Given the description of an element on the screen output the (x, y) to click on. 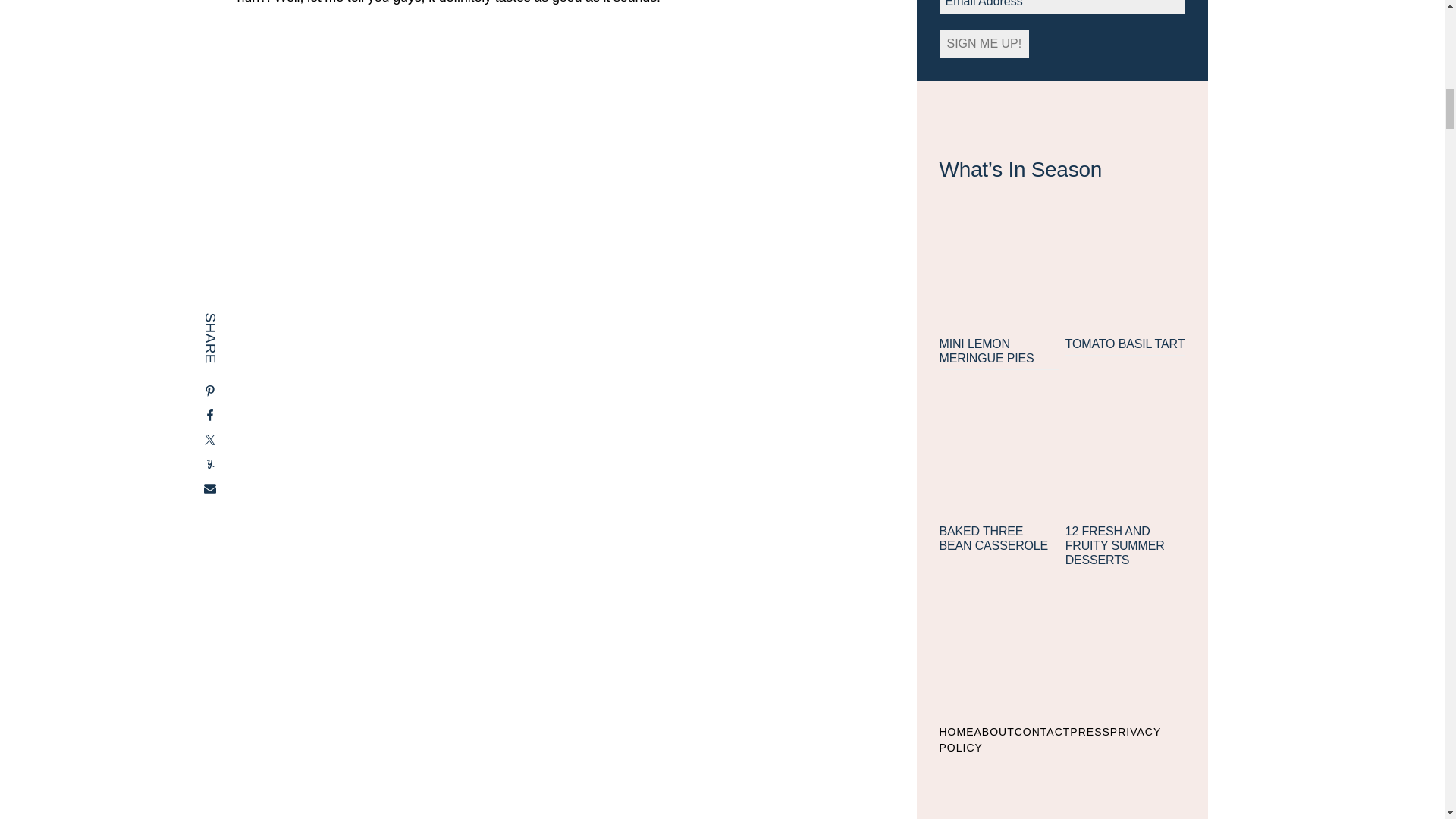
SIGN ME UP! (984, 43)
